Given the description of an element on the screen output the (x, y) to click on. 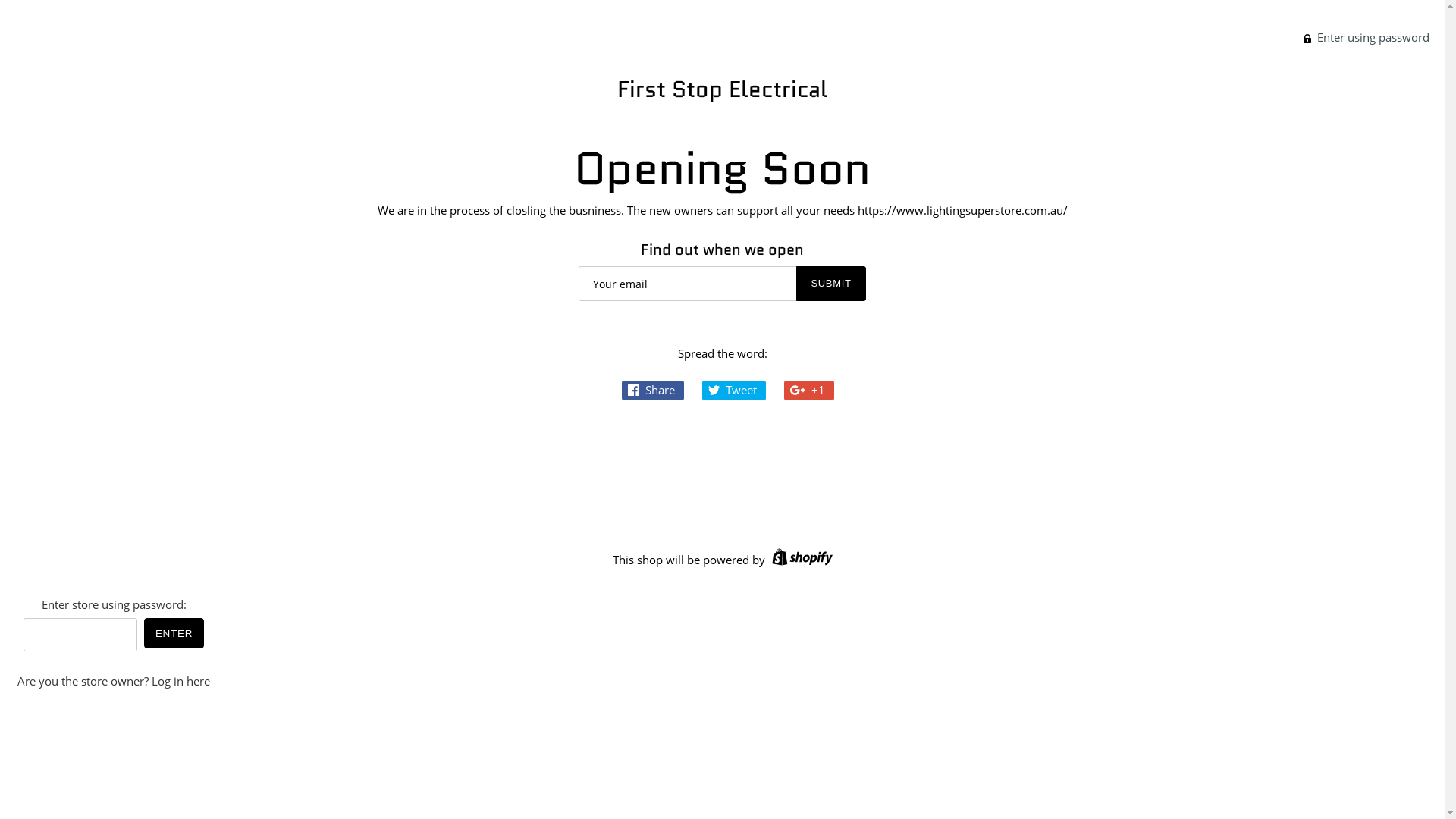
Twitter Tweet Element type: text (733, 390)
Lock icon Enter using password Element type: text (1366, 36)
Log in here Element type: text (180, 680)
Submit Element type: text (830, 283)
GooglePlus +1 Element type: text (809, 390)
Facebook Share Element type: text (652, 390)
Enter Element type: text (173, 633)
Shopify logo Element type: text (799, 559)
